Given the description of an element on the screen output the (x, y) to click on. 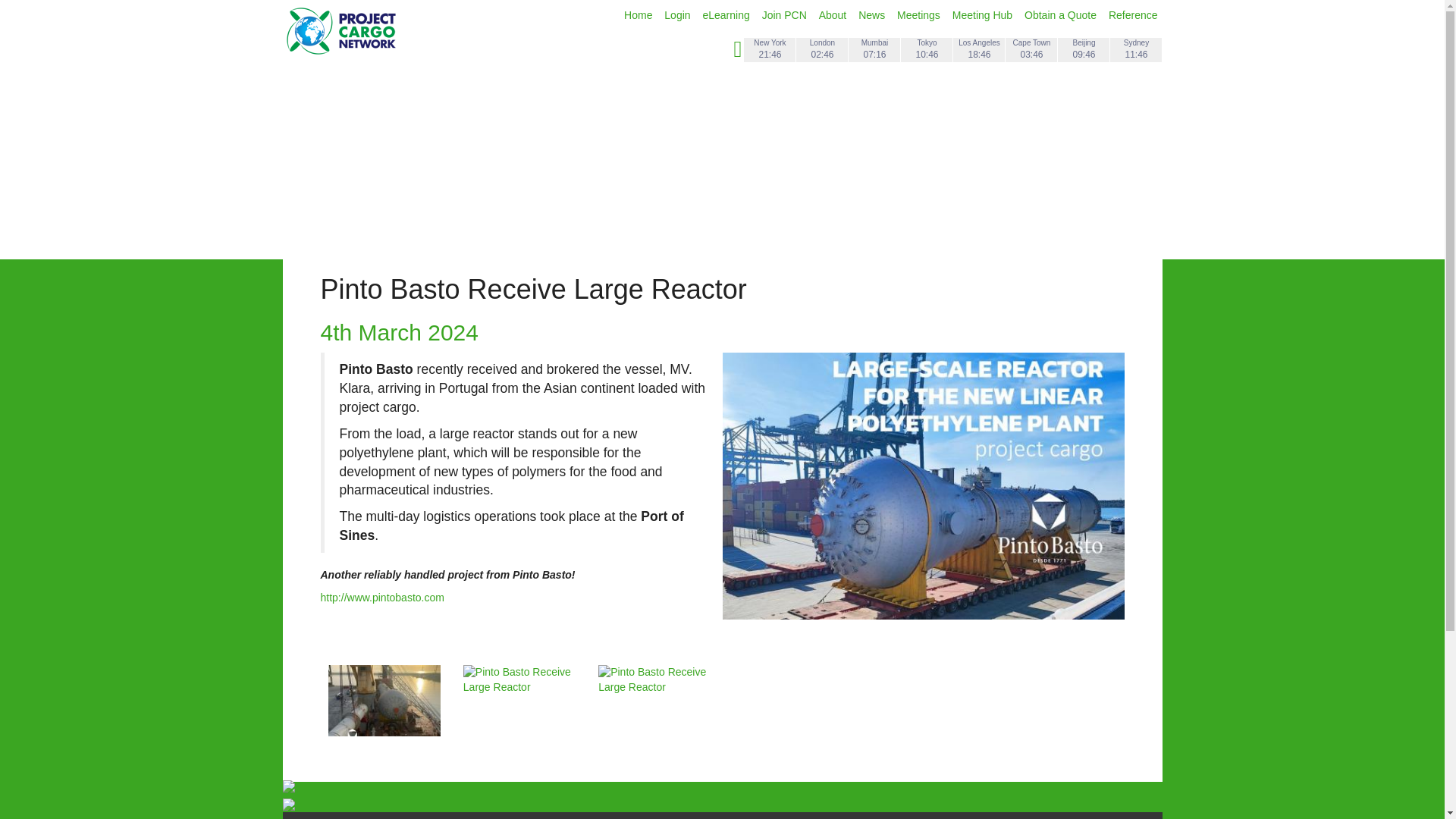
News (873, 15)
Home (639, 15)
eLearning (726, 15)
Reference (1132, 15)
Obtain a Quote (1062, 15)
Meetings (919, 15)
Login (678, 15)
About (833, 15)
Meeting Hub (983, 15)
Join PCN (785, 15)
